Given the description of an element on the screen output the (x, y) to click on. 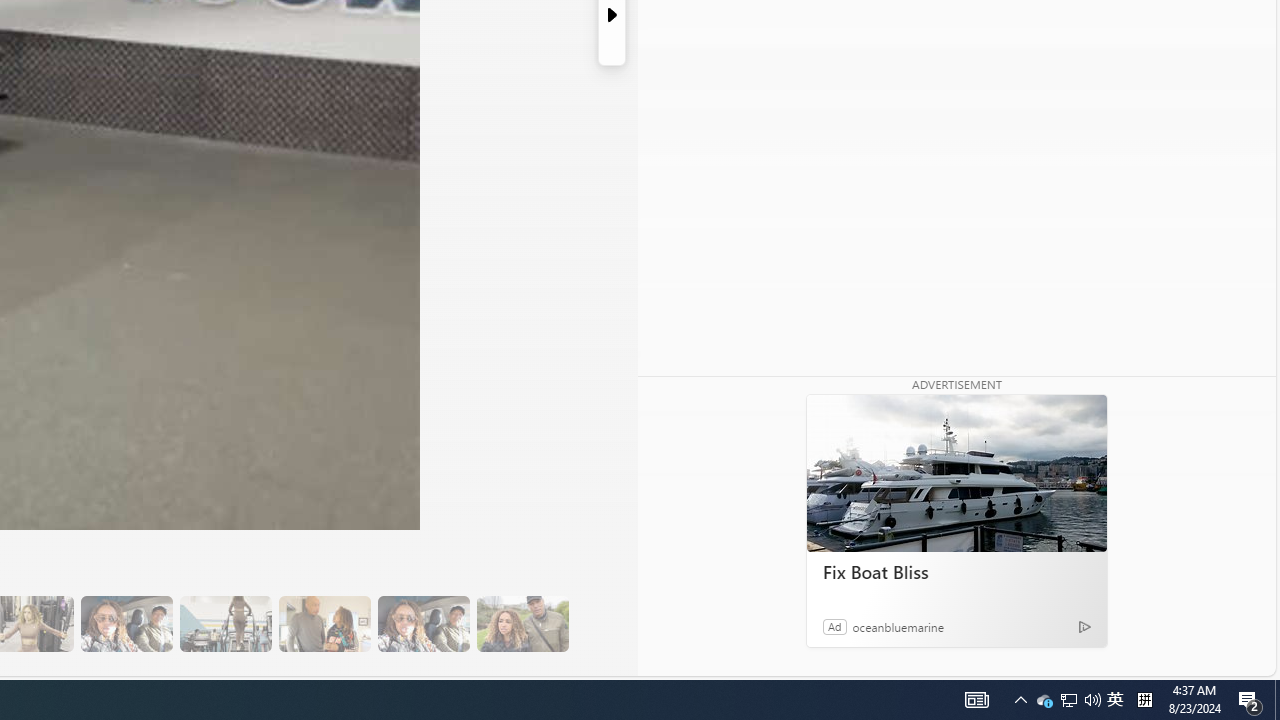
Fix Boat Bliss (956, 571)
oceanbluemarine (898, 626)
19 It Also Simplifies Thiings (423, 624)
16 The Couple's Program Helps with Accountability (125, 624)
20 Overall, It Will Improve Your Health (522, 624)
18 It's More Fun Doing It with Someone Else (324, 624)
16 The Couple's Program Helps with Accountability (125, 624)
18 It's More Fun Doing It with Someone Else (324, 624)
Fix Boat Bliss (956, 473)
